Given the description of an element on the screen output the (x, y) to click on. 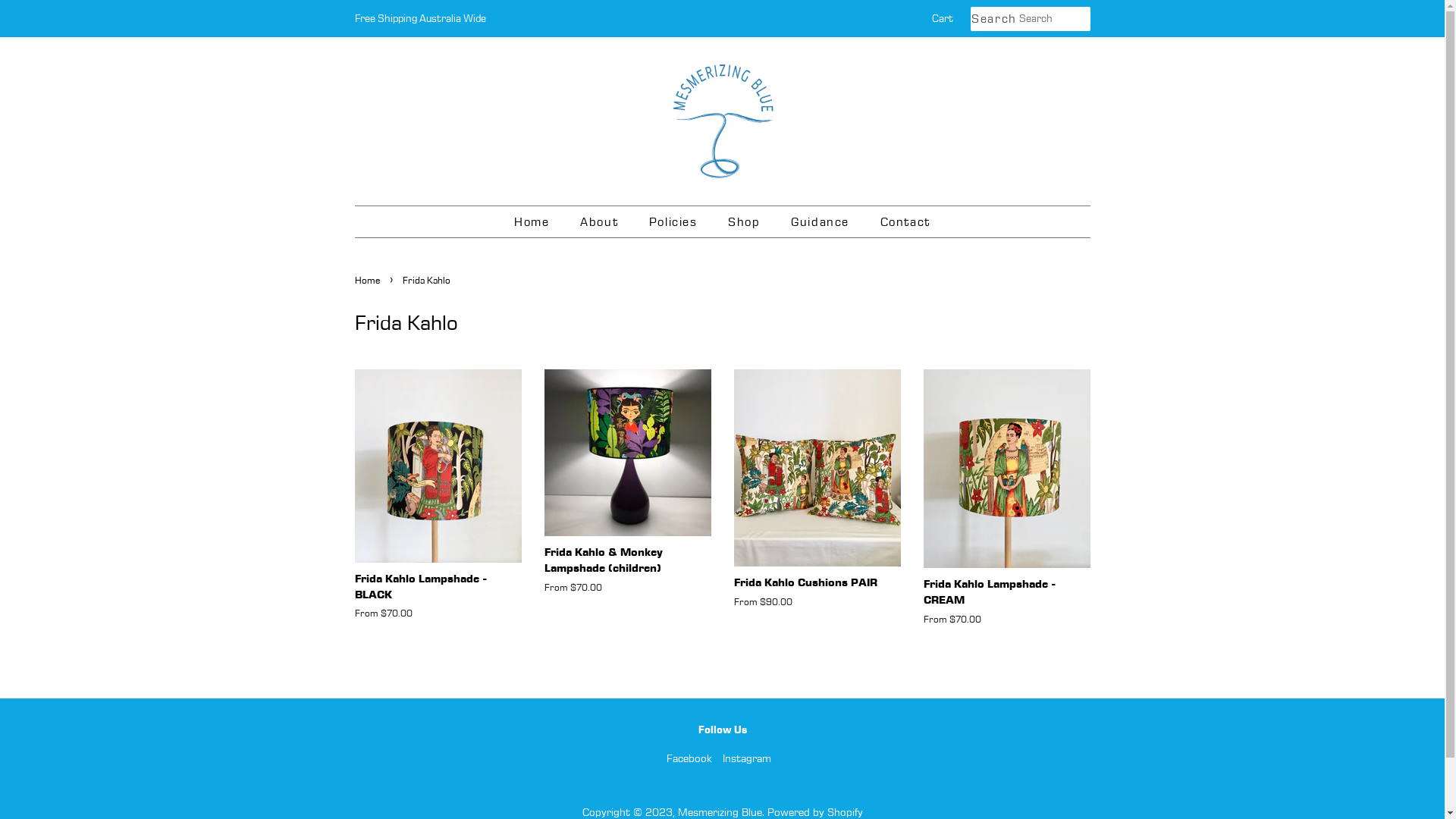
Contact Element type: text (899, 221)
Home Element type: text (368, 279)
Frida Kahlo Lampshade -BLACK
From $70.00 Element type: text (437, 508)
Frida Kahlo Cushions PAIR
From $90.00 Element type: text (817, 502)
Frida Kahlo Lampshade - CREAM
From $70.00 Element type: text (1006, 510)
About Element type: text (600, 221)
Search Element type: text (994, 18)
Home Element type: text (539, 221)
Policies Element type: text (674, 221)
Instagram Element type: text (745, 758)
Guidance Element type: text (821, 221)
Powered by Shopify Element type: text (814, 812)
Frida Kahlo & Monkey Lampshade (children)
From $70.00 Element type: text (627, 495)
Mesmerizing Blue Element type: text (719, 812)
Facebook Element type: text (688, 758)
Shop Element type: text (745, 221)
Cart Element type: text (941, 18)
